Given the description of an element on the screen output the (x, y) to click on. 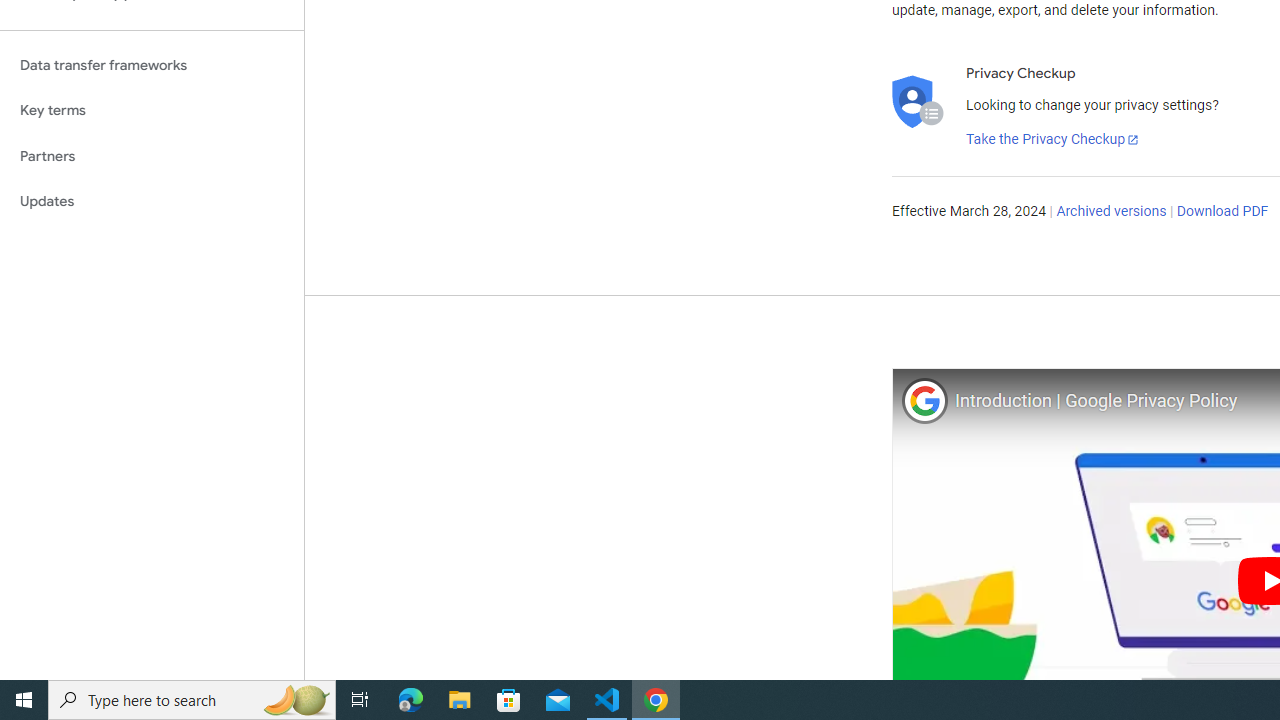
Take the Privacy Checkup (1053, 140)
Photo image of Google (924, 400)
